Given the description of an element on the screen output the (x, y) to click on. 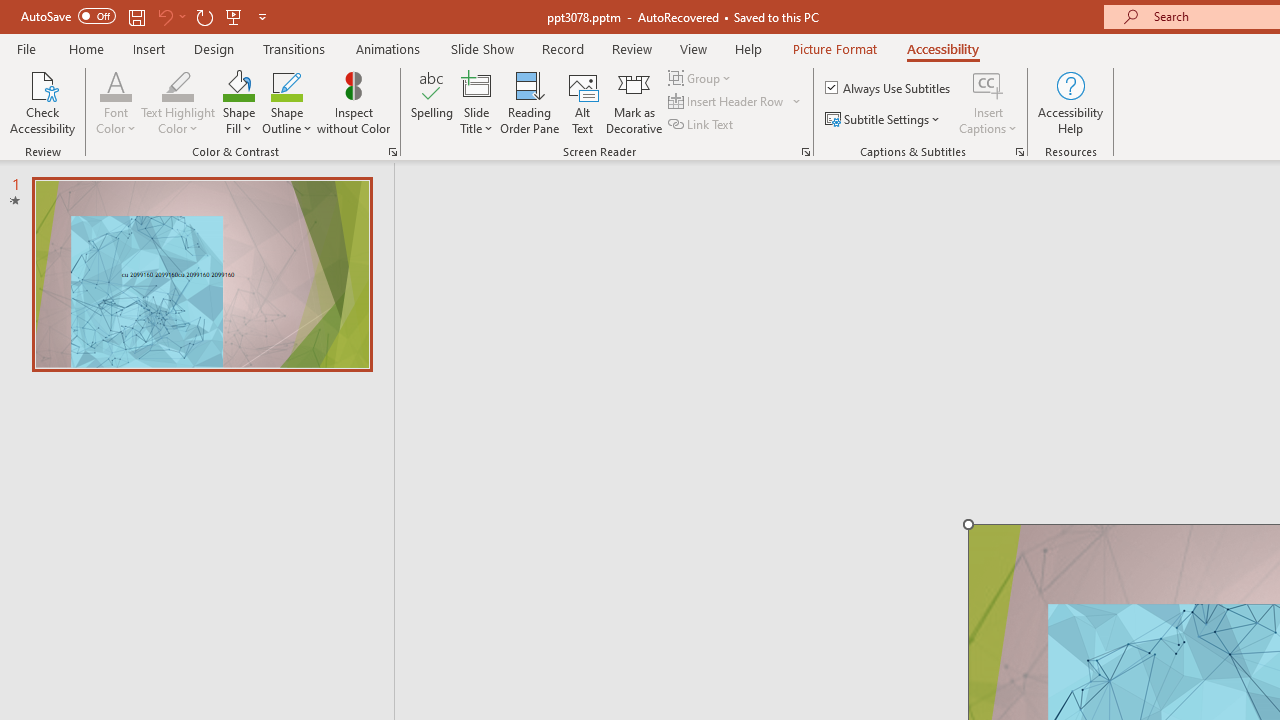
Check Accessibility (42, 102)
Insert Header Row (735, 101)
Group (701, 78)
Screen Reader (805, 151)
Inspect without Color (353, 102)
Slide Title (476, 102)
Color & Contrast (392, 151)
Font Color (116, 102)
Mark as Decorative (634, 102)
Slide Title (476, 84)
